Given the description of an element on the screen output the (x, y) to click on. 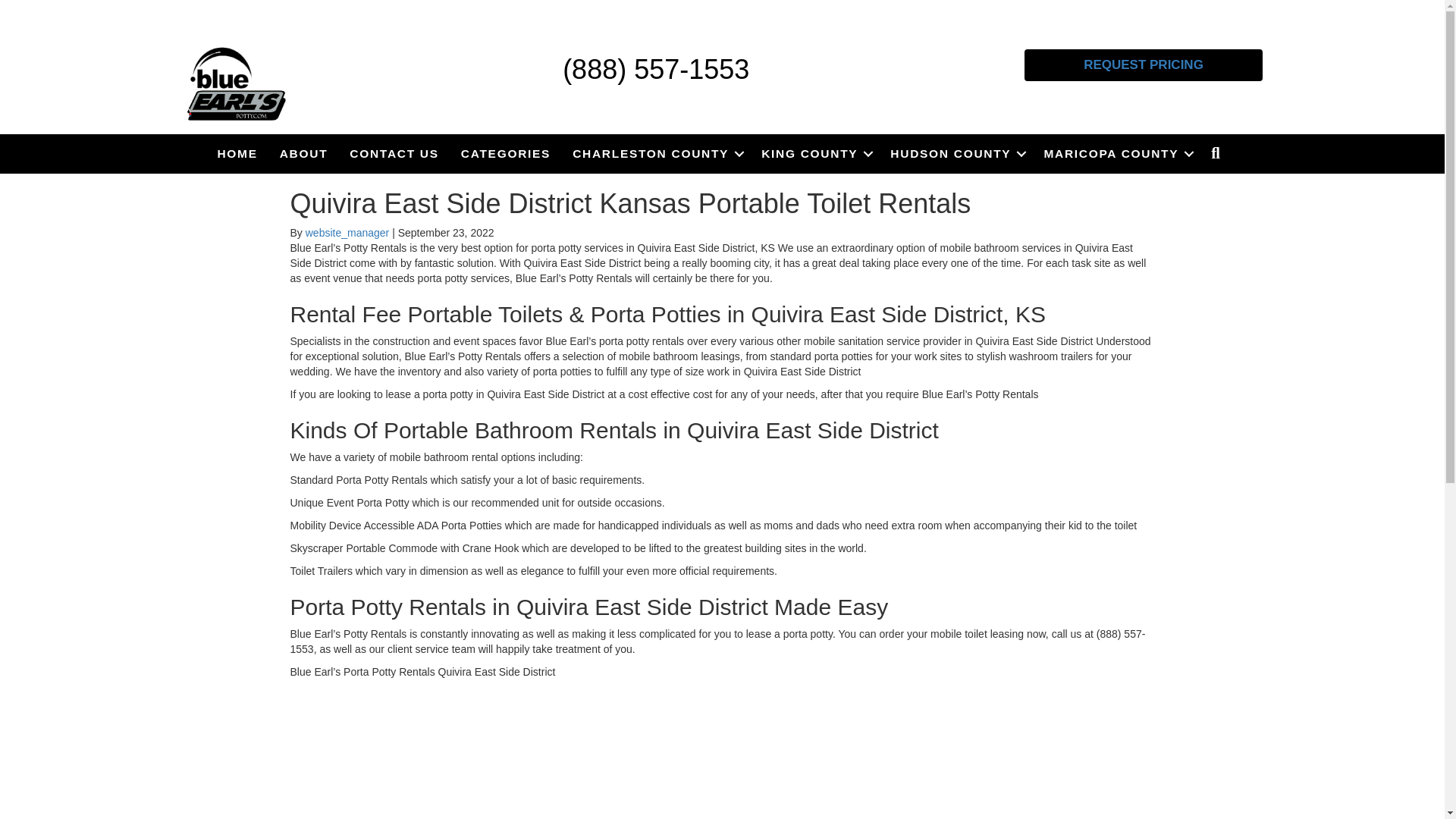
CONTACT US (393, 153)
CHARLESTON COUNTY (655, 153)
blueearlspotty (237, 83)
REQUEST PRICING (1144, 65)
CATEGORIES (504, 153)
HOME (236, 153)
HUDSON COUNTY (955, 153)
Skip to content (34, 6)
ABOUT (304, 153)
KING COUNTY (815, 153)
